Given the description of an element on the screen output the (x, y) to click on. 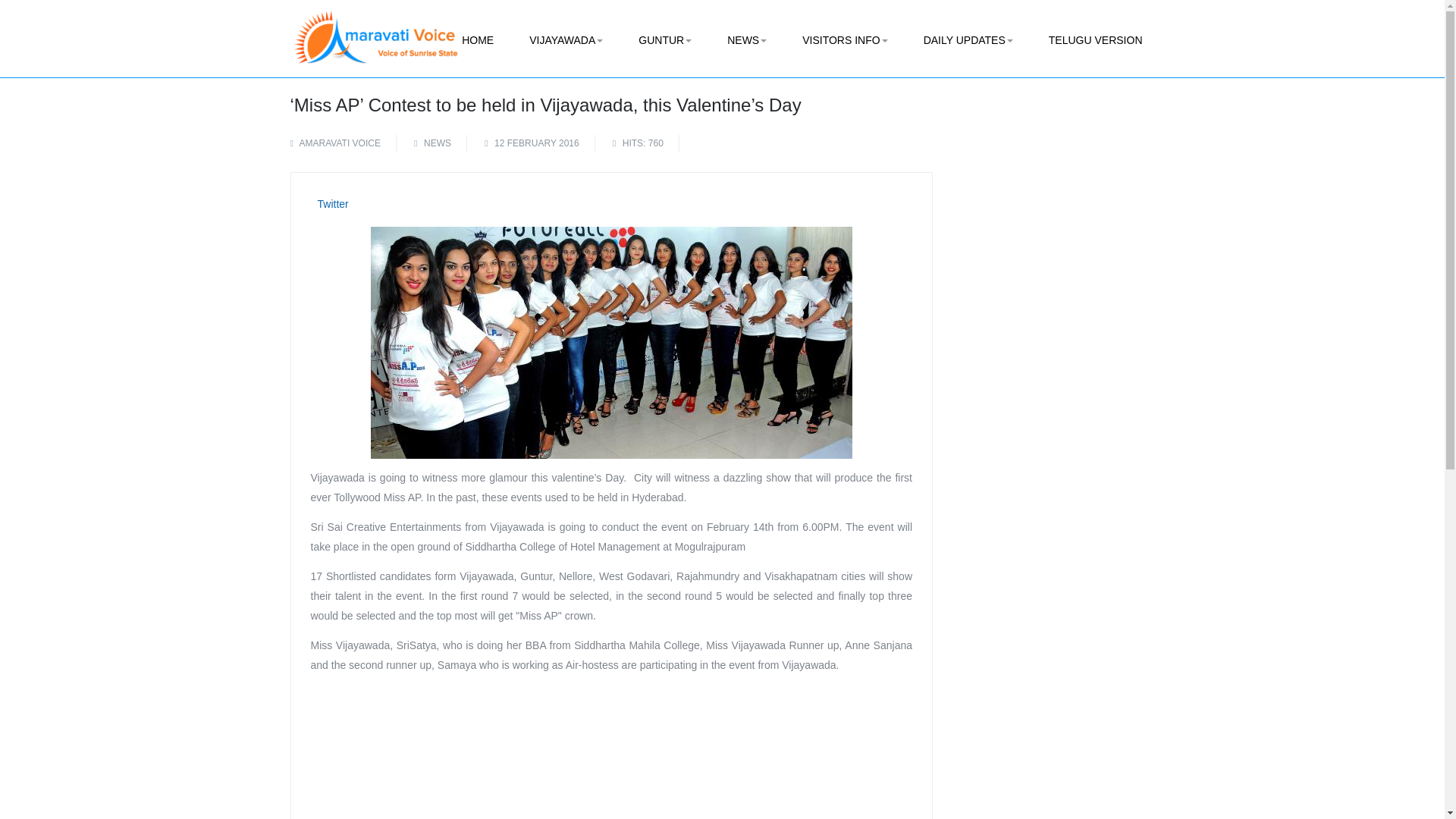
NEWS (746, 40)
NEWS (437, 143)
VISITORS INFO (844, 40)
Category:  (432, 143)
Amaravativoice (375, 26)
HOME (477, 40)
TELUGU VERSION (1095, 40)
VIJAYAWADA (565, 40)
Twitter (332, 203)
Advertisement (611, 752)
